Given the description of an element on the screen output the (x, y) to click on. 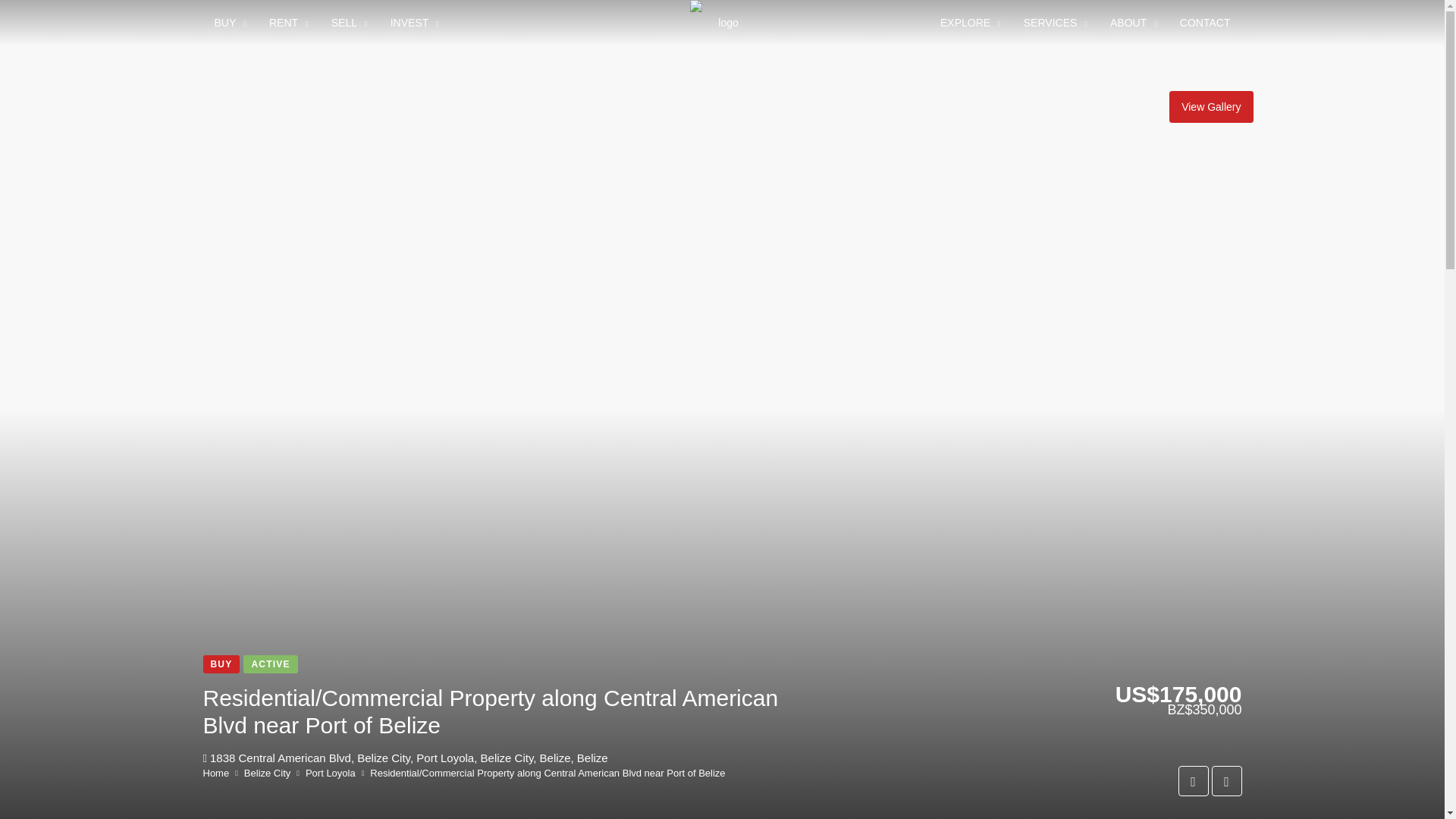
BUY (230, 23)
RENT (288, 23)
